Given the description of an element on the screen output the (x, y) to click on. 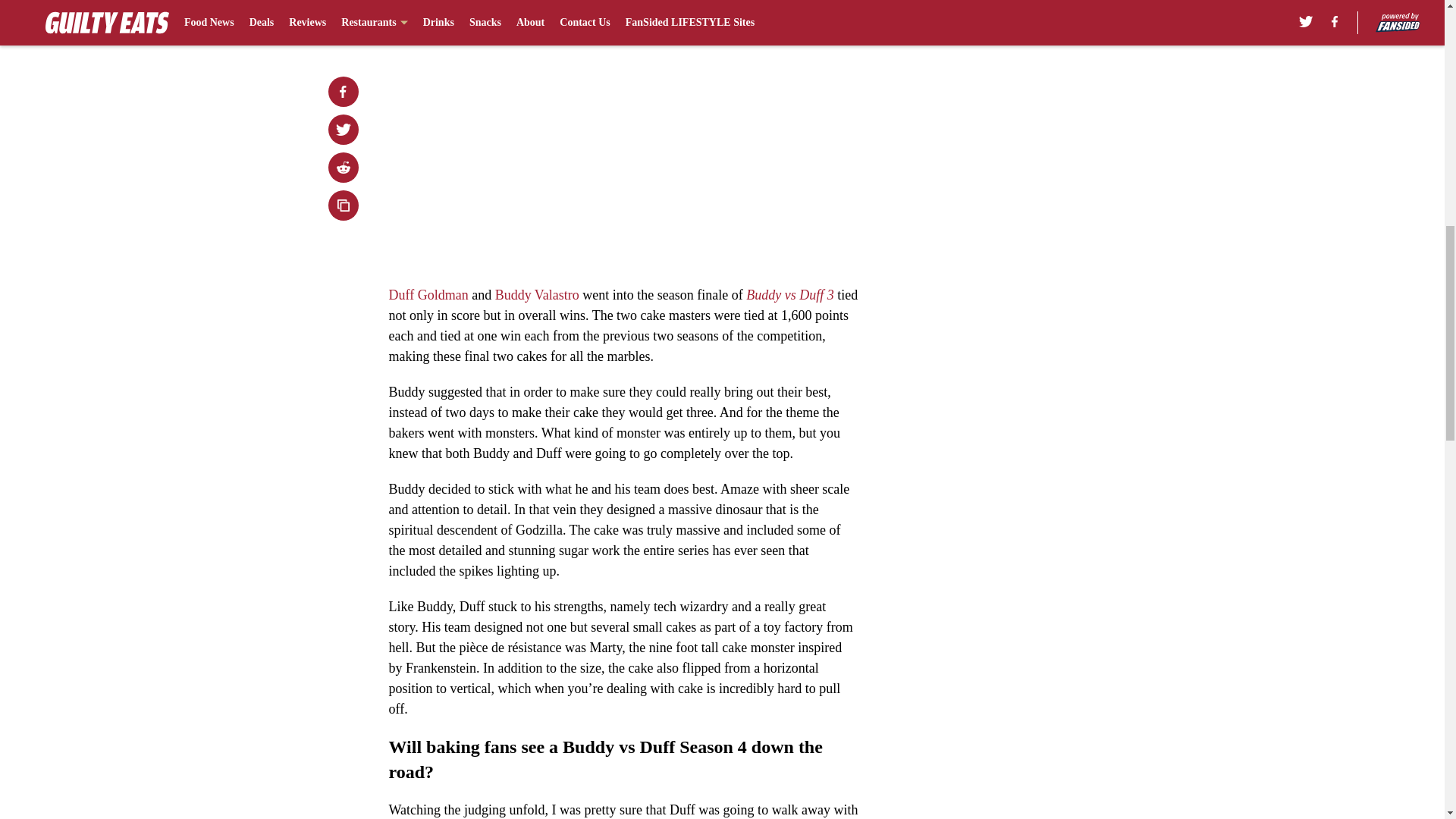
Duff Goldman (427, 294)
Buddy vs Duff 3 (788, 294)
Buddy Valastro (537, 294)
